Given the description of an element on the screen output the (x, y) to click on. 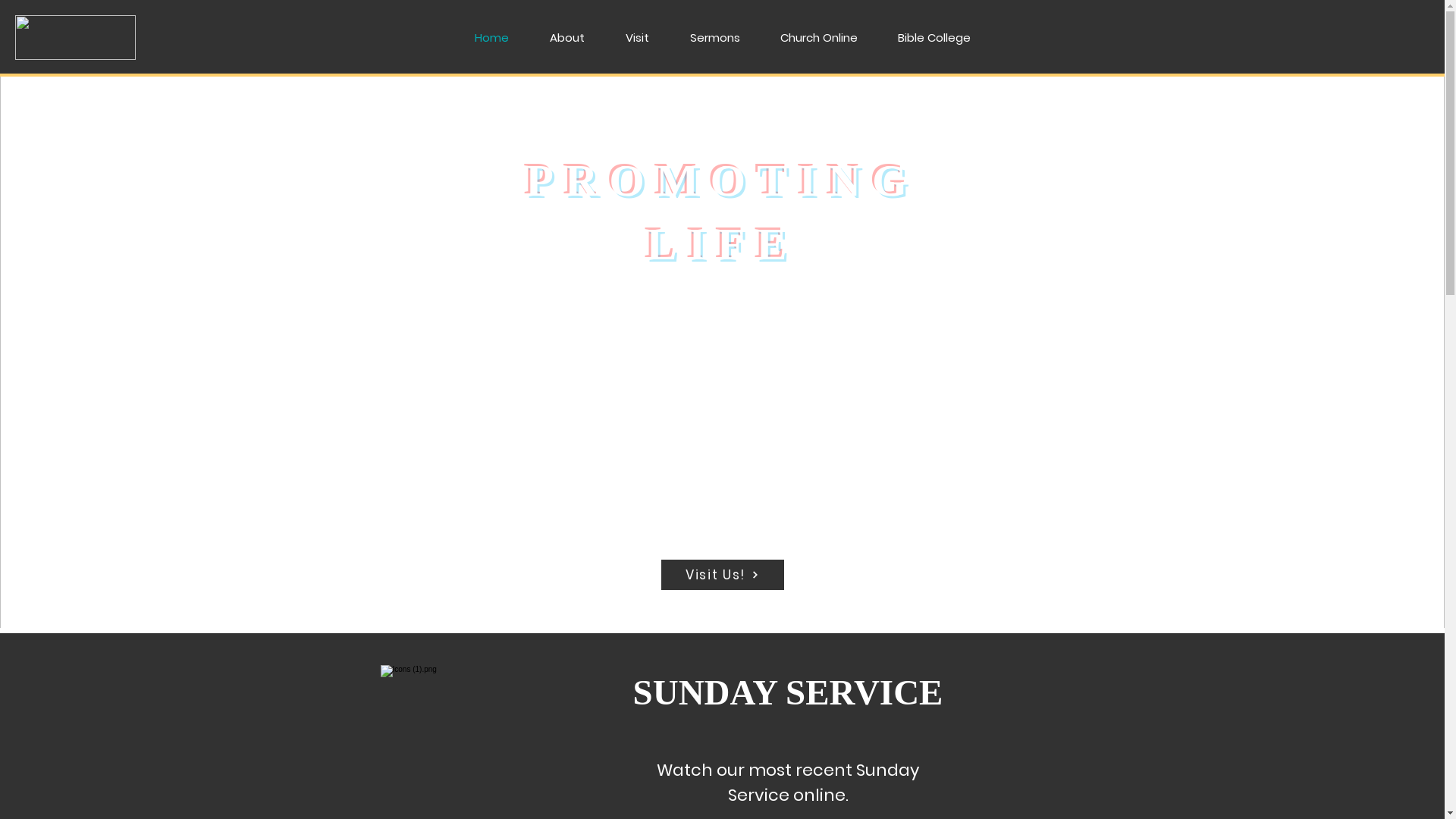
Sermons Element type: text (713, 37)
Visit Element type: text (637, 37)
About Element type: text (567, 37)
Home Element type: text (490, 37)
Visit Us! Element type: text (722, 574)
Church Online Element type: text (818, 37)
flg_logo_typeface_white_lowres.png Element type: hover (75, 37)
Bible College Element type: text (934, 37)
